Given the description of an element on the screen output the (x, y) to click on. 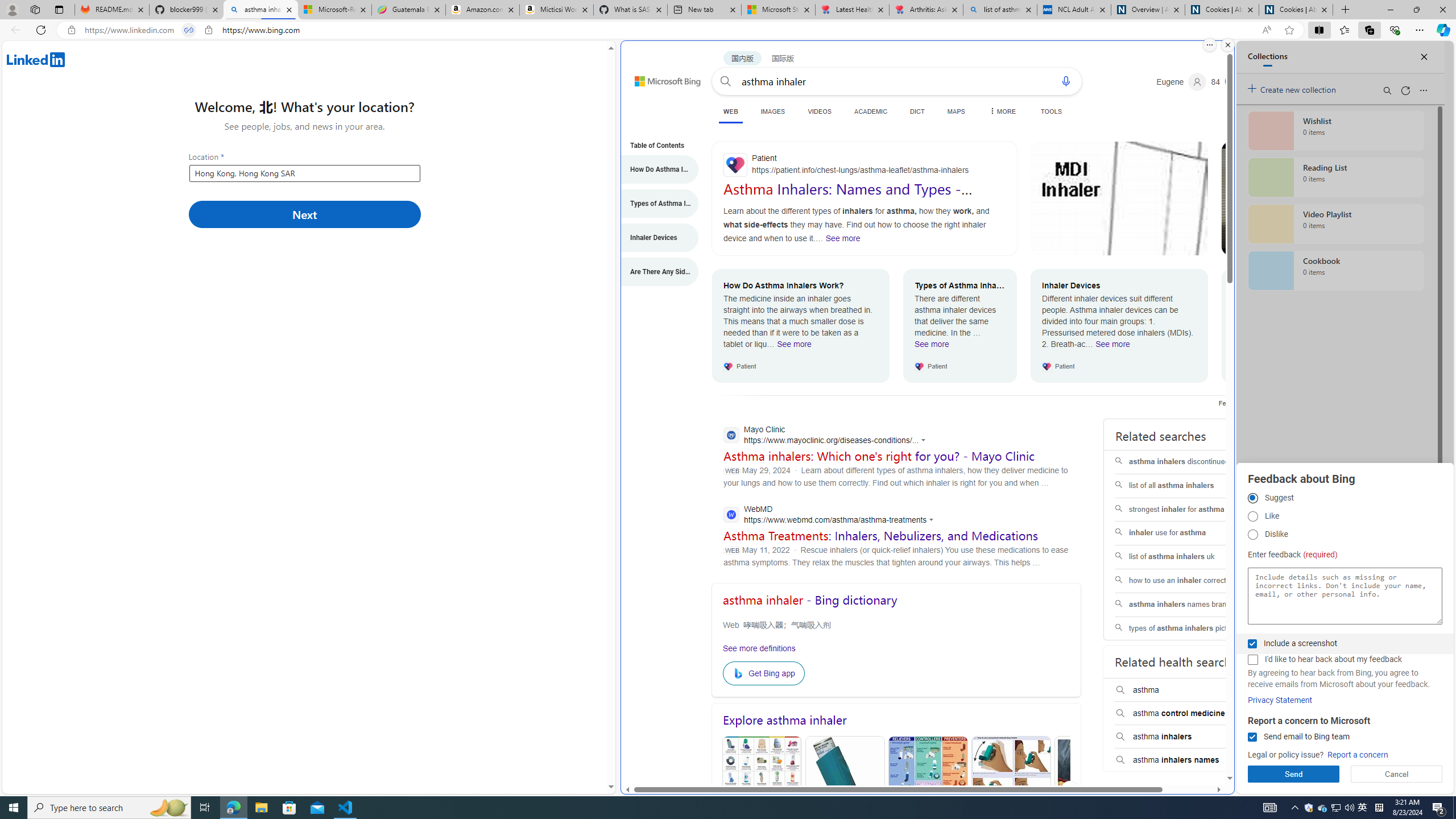
asthma inhalers names (1187, 759)
ACADEMIC (871, 111)
list of all asthma inhalers (1187, 485)
ACADEMIC (871, 111)
Eugene (1181, 81)
TOOLS (1050, 111)
